Given the description of an element on the screen output the (x, y) to click on. 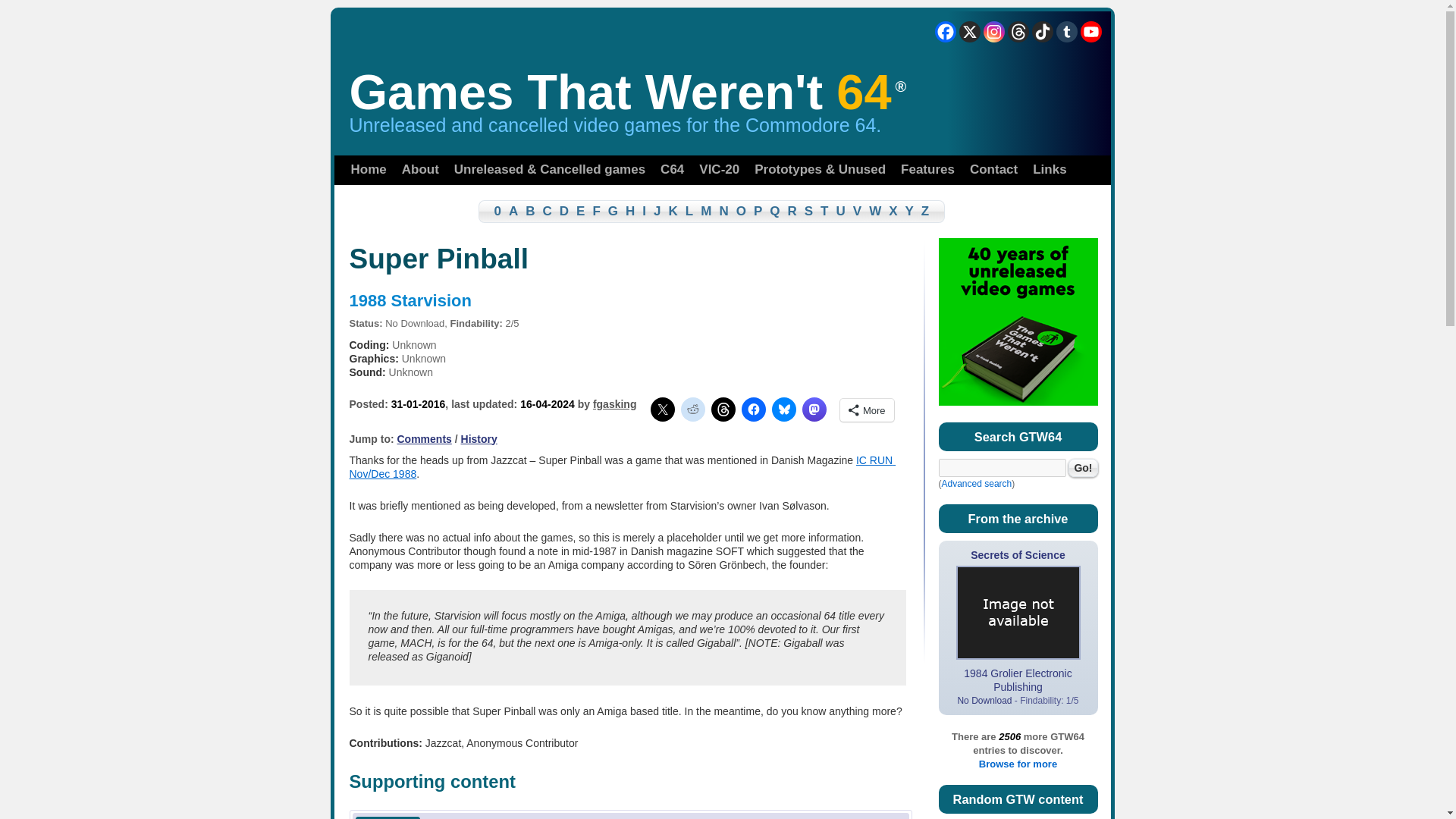
Various other site features and interviews (927, 169)
0 (490, 210)
X (968, 31)
Threads (1017, 31)
Home page and latest news (367, 169)
Home (367, 169)
About (420, 169)
Links (1049, 169)
Instagram (993, 31)
TikTok (1041, 31)
